Given the description of an element on the screen output the (x, y) to click on. 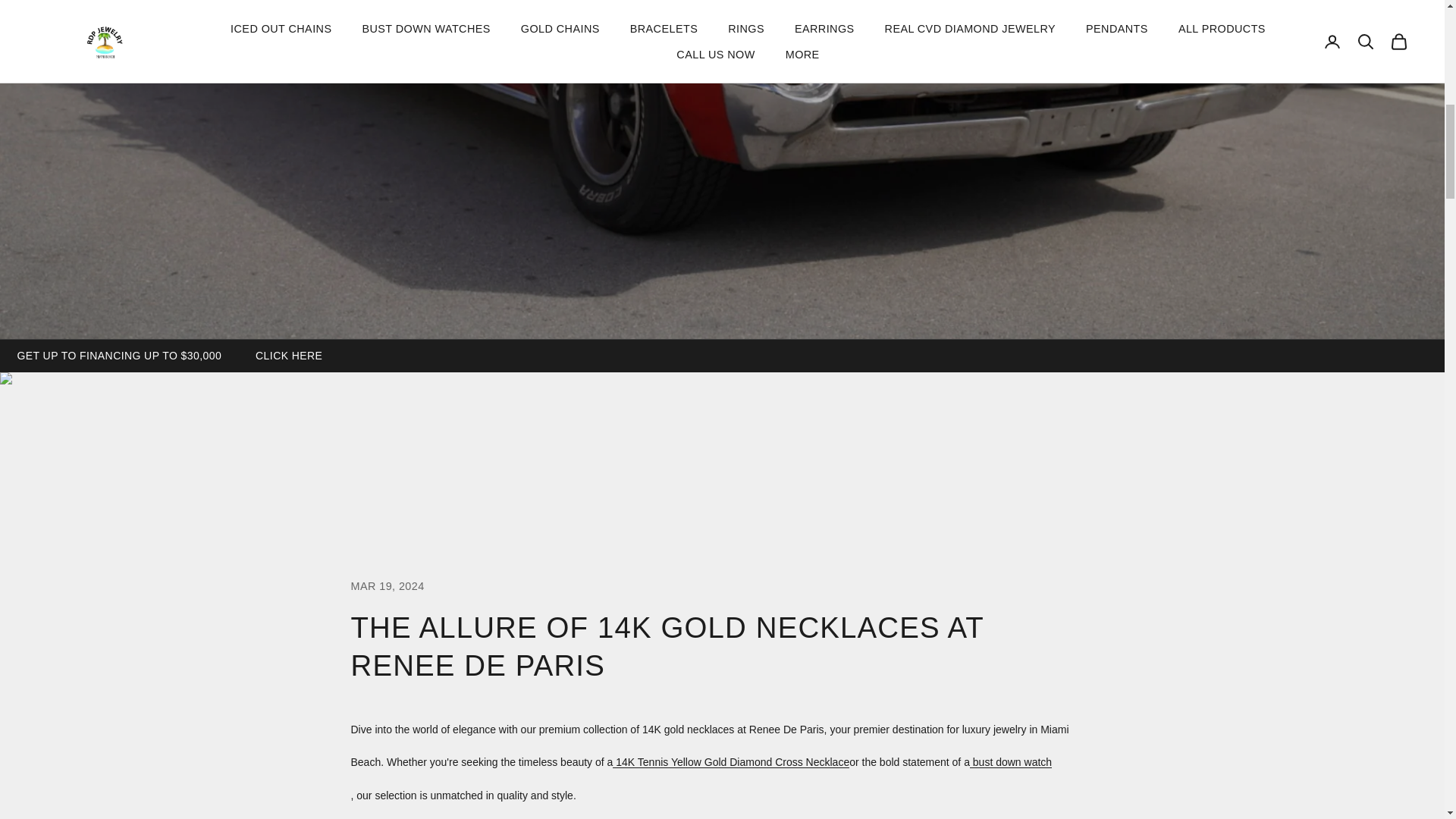
CLICK HERE (288, 355)
